Given the description of an element on the screen output the (x, y) to click on. 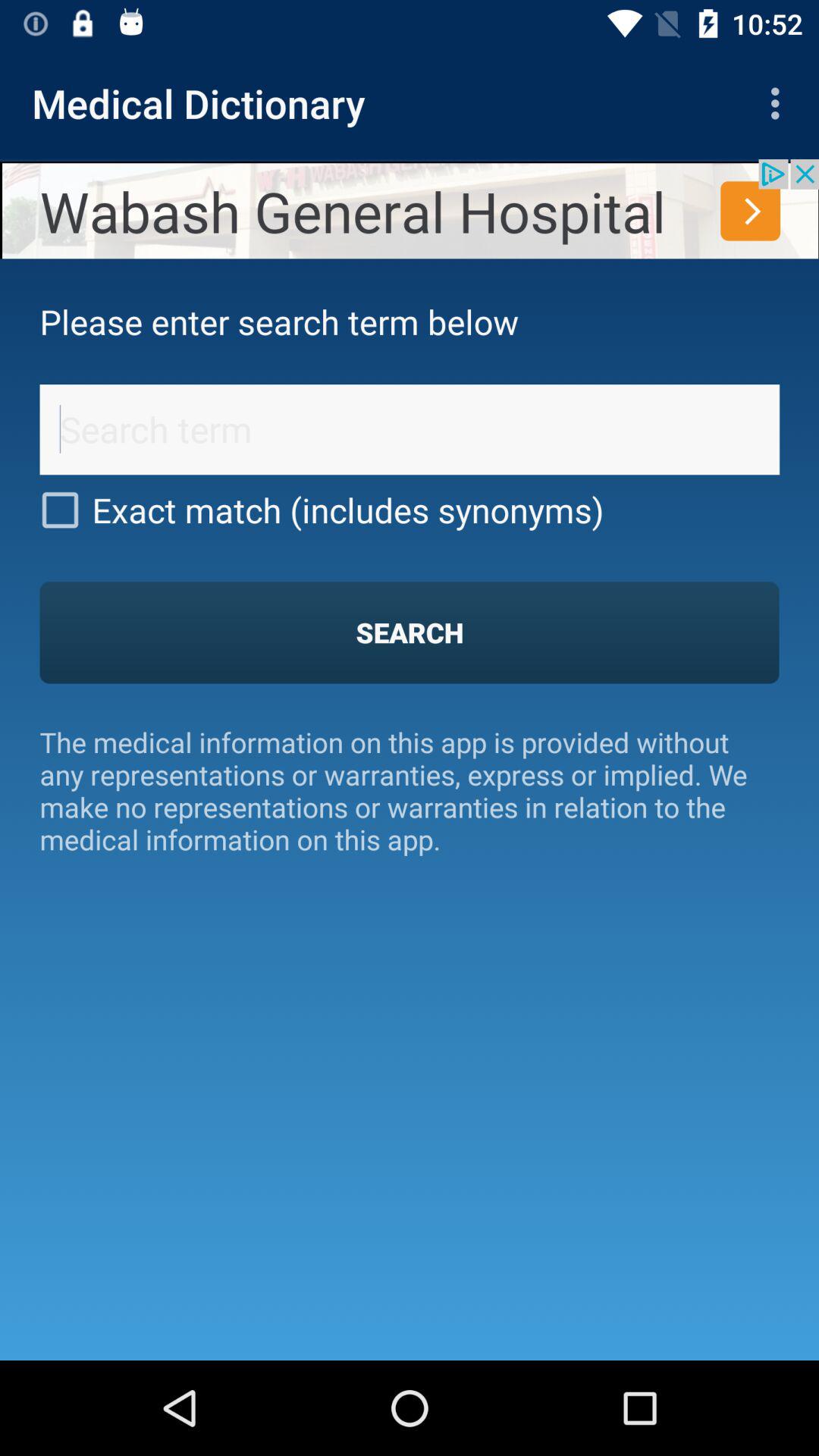
for search (409, 429)
